Given the description of an element on the screen output the (x, y) to click on. 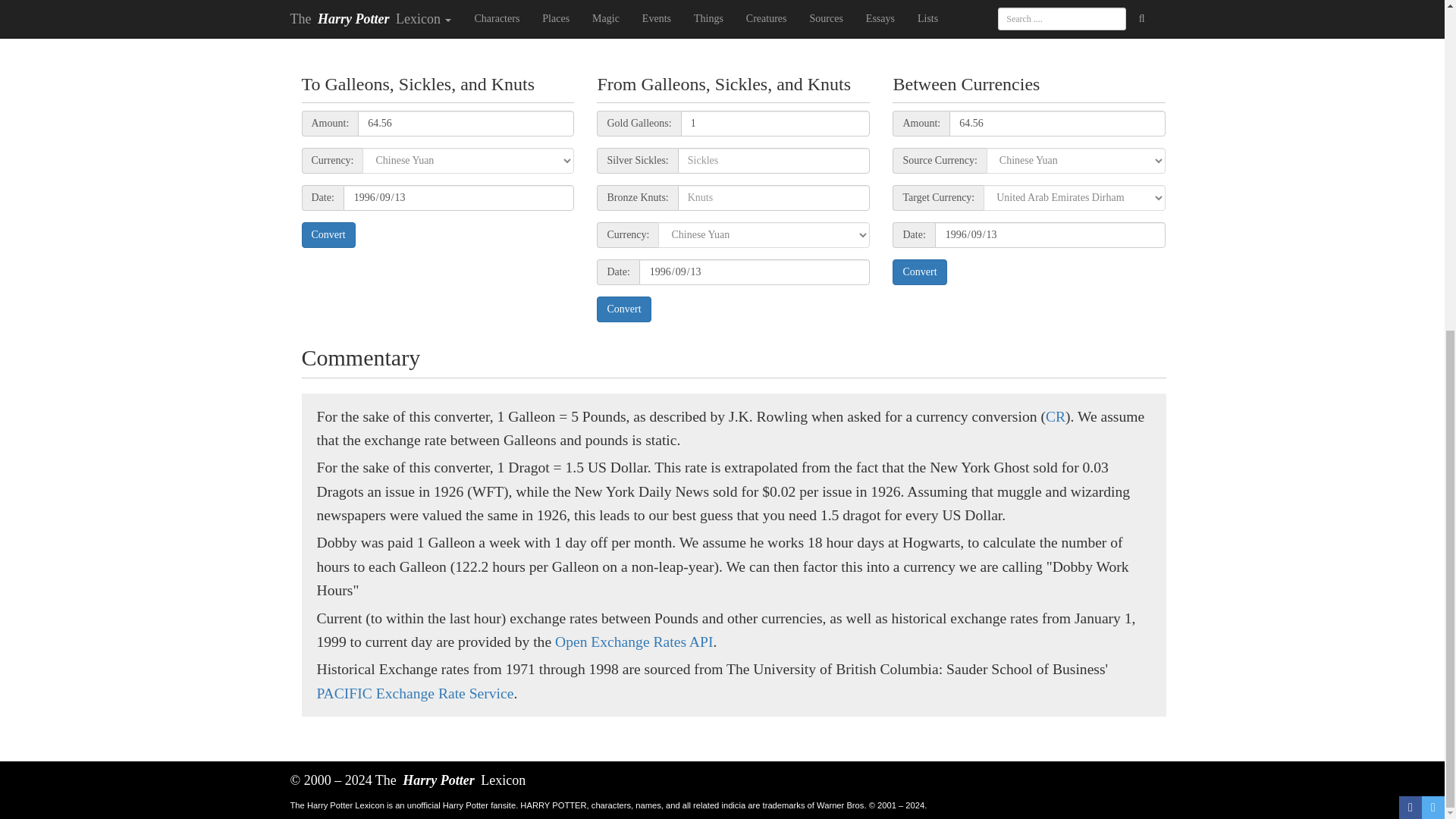
1 (775, 123)
64.56 (465, 123)
1996-09-13 (754, 272)
1996-09-13 (1050, 234)
1996-09-13 (459, 197)
64.56 (1057, 123)
